Given the description of an element on the screen output the (x, y) to click on. 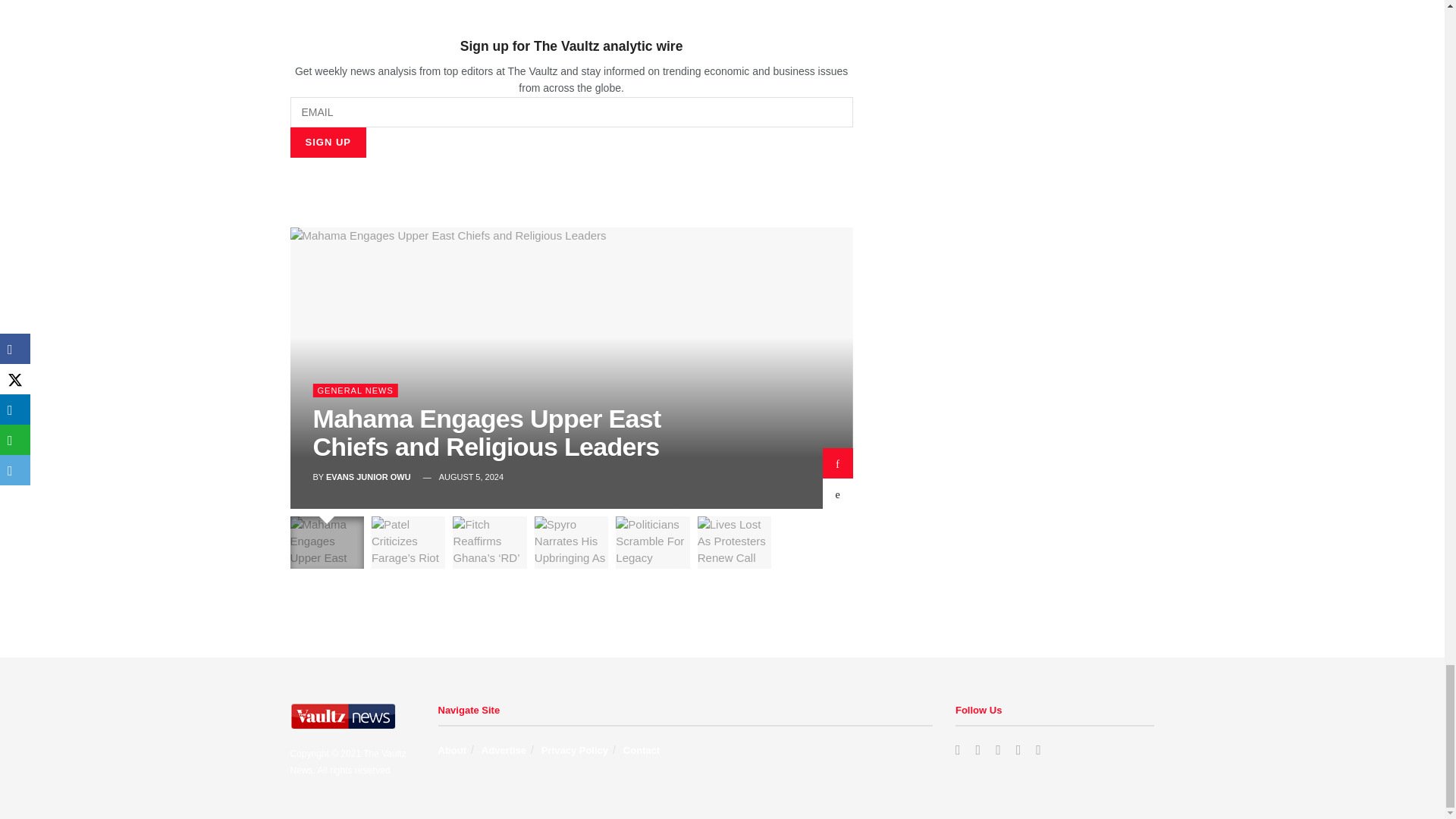
Sign up (327, 142)
